Given the description of an element on the screen output the (x, y) to click on. 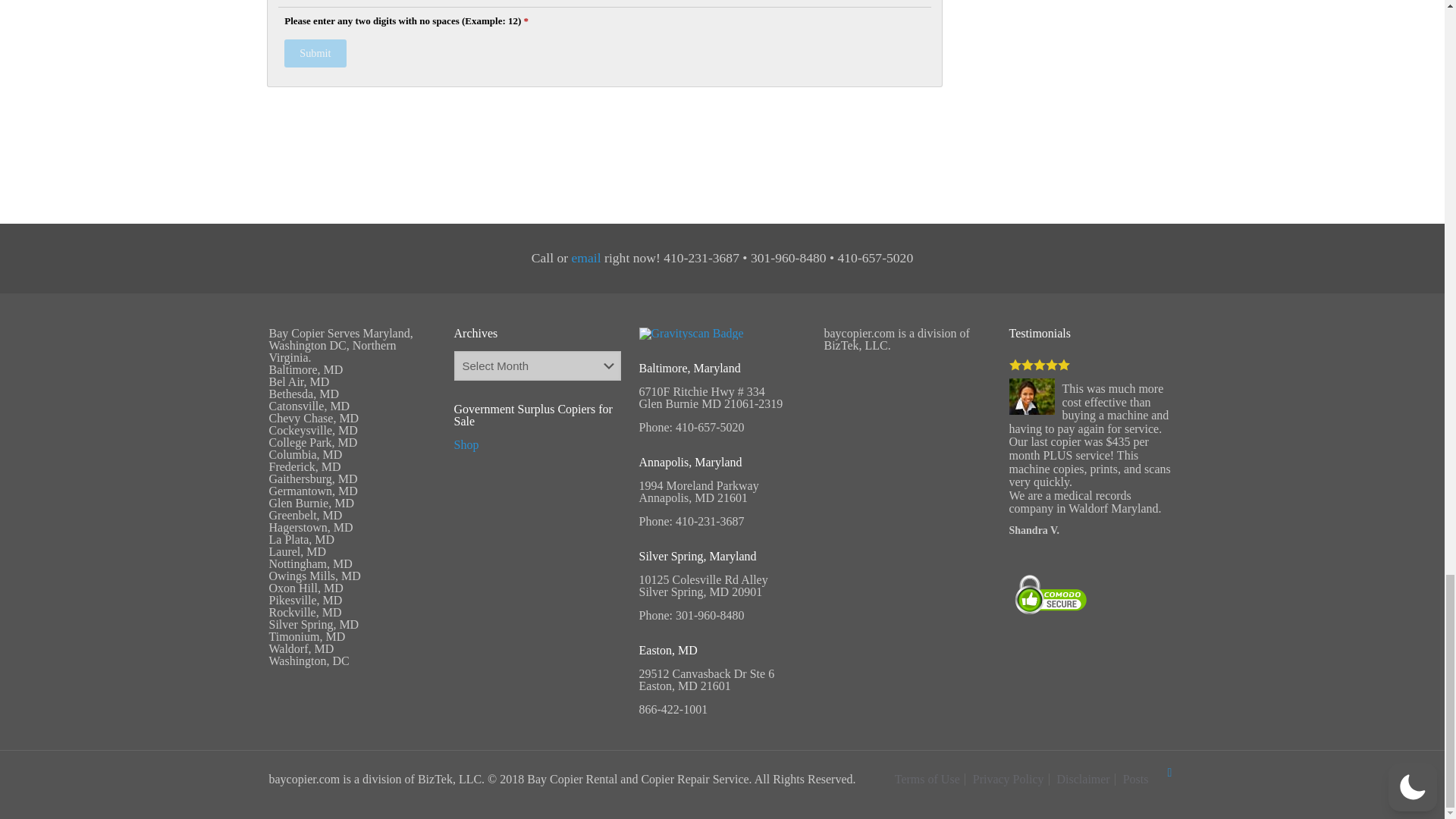
Submit (314, 53)
Submit (314, 53)
